Given the description of an element on the screen output the (x, y) to click on. 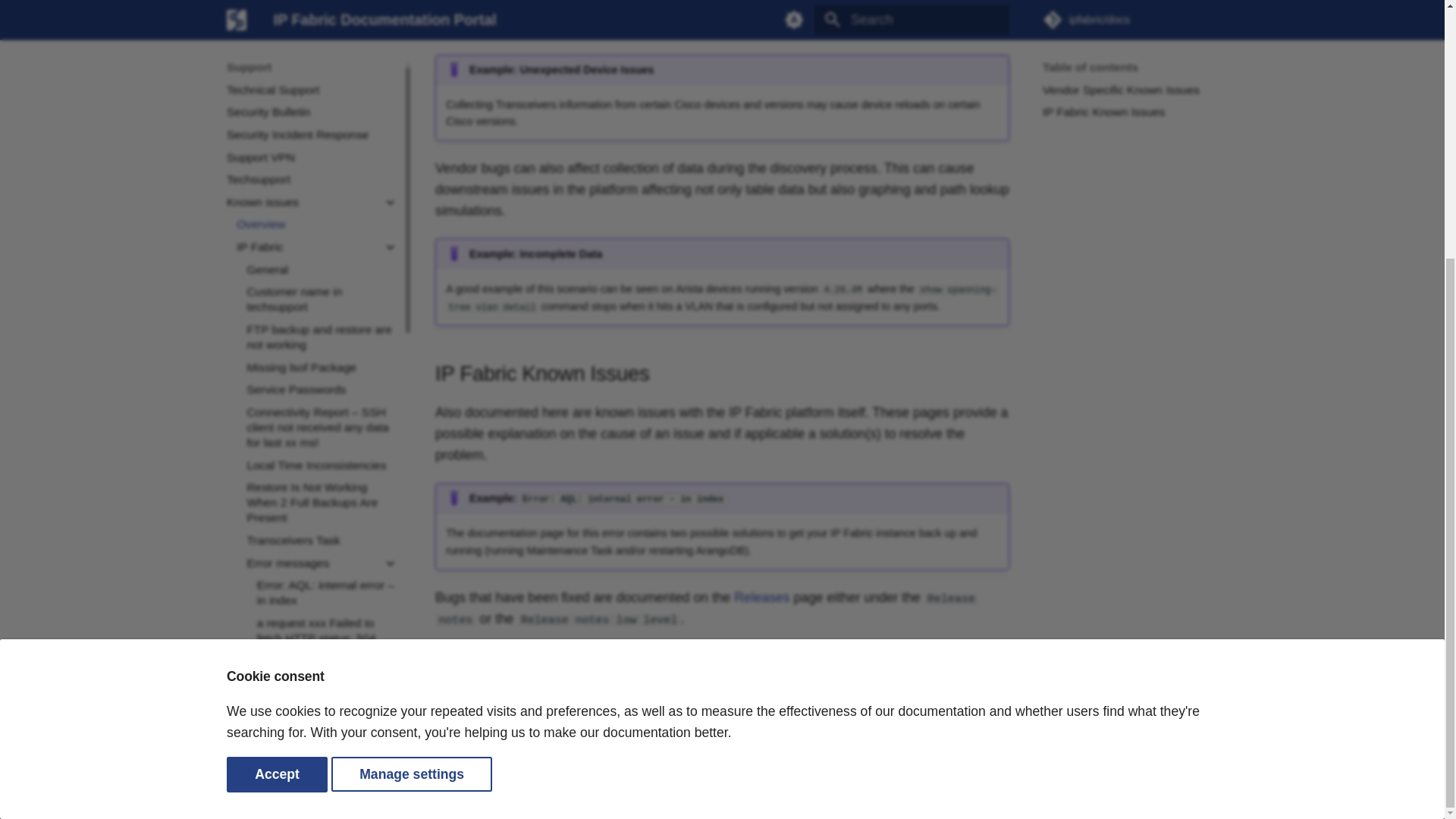
www.facebook.com (1117, 788)
twitter.com (1177, 788)
www.linkedin.com (1207, 788)
www.youtube.com (1147, 788)
Last update (442, 652)
